Given the description of an element on the screen output the (x, y) to click on. 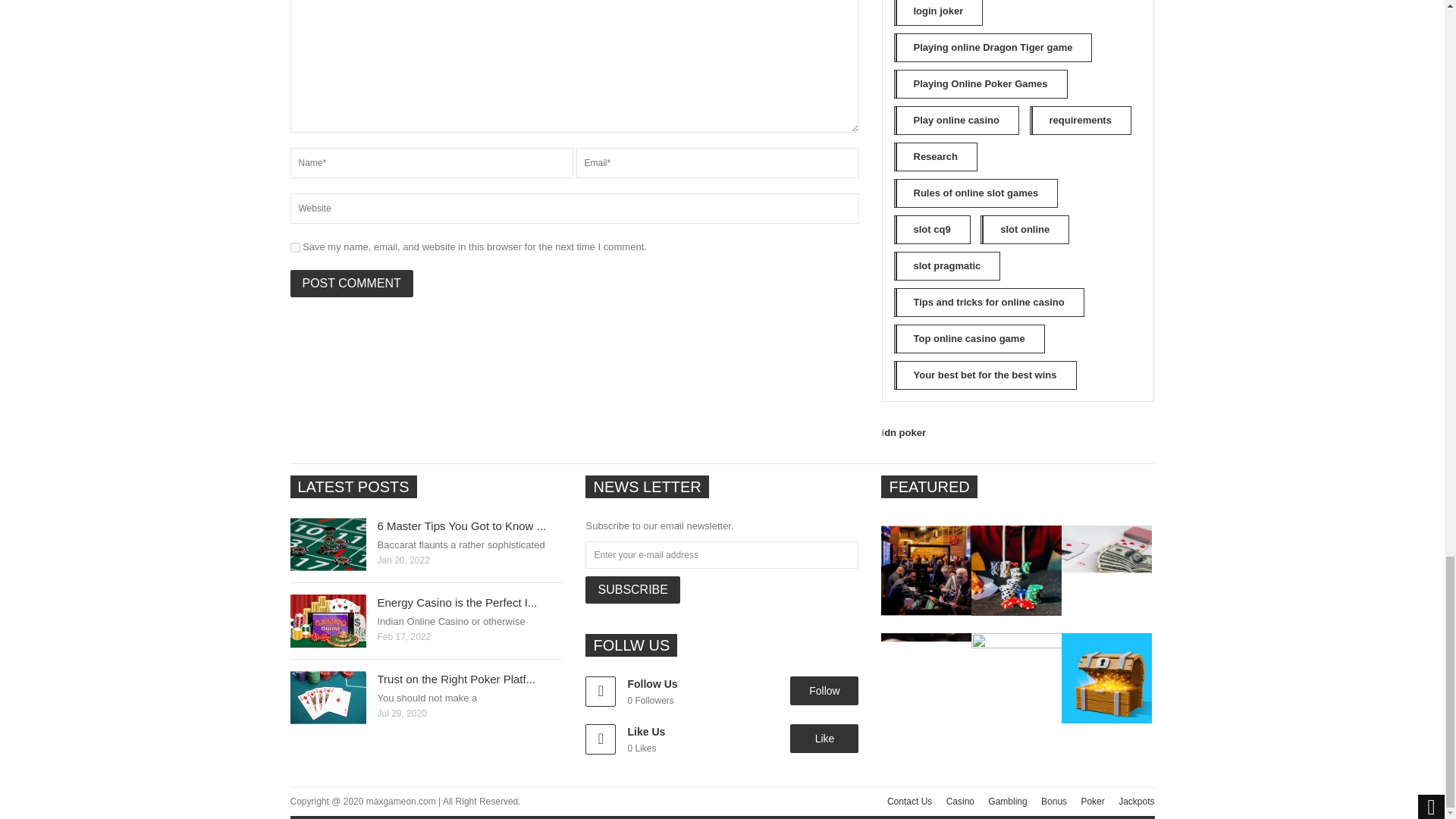
Post Comment (350, 283)
Post Comment (350, 283)
Subscribe (632, 589)
Enter your e-mail address (722, 554)
yes (294, 247)
